Given the description of an element on the screen output the (x, y) to click on. 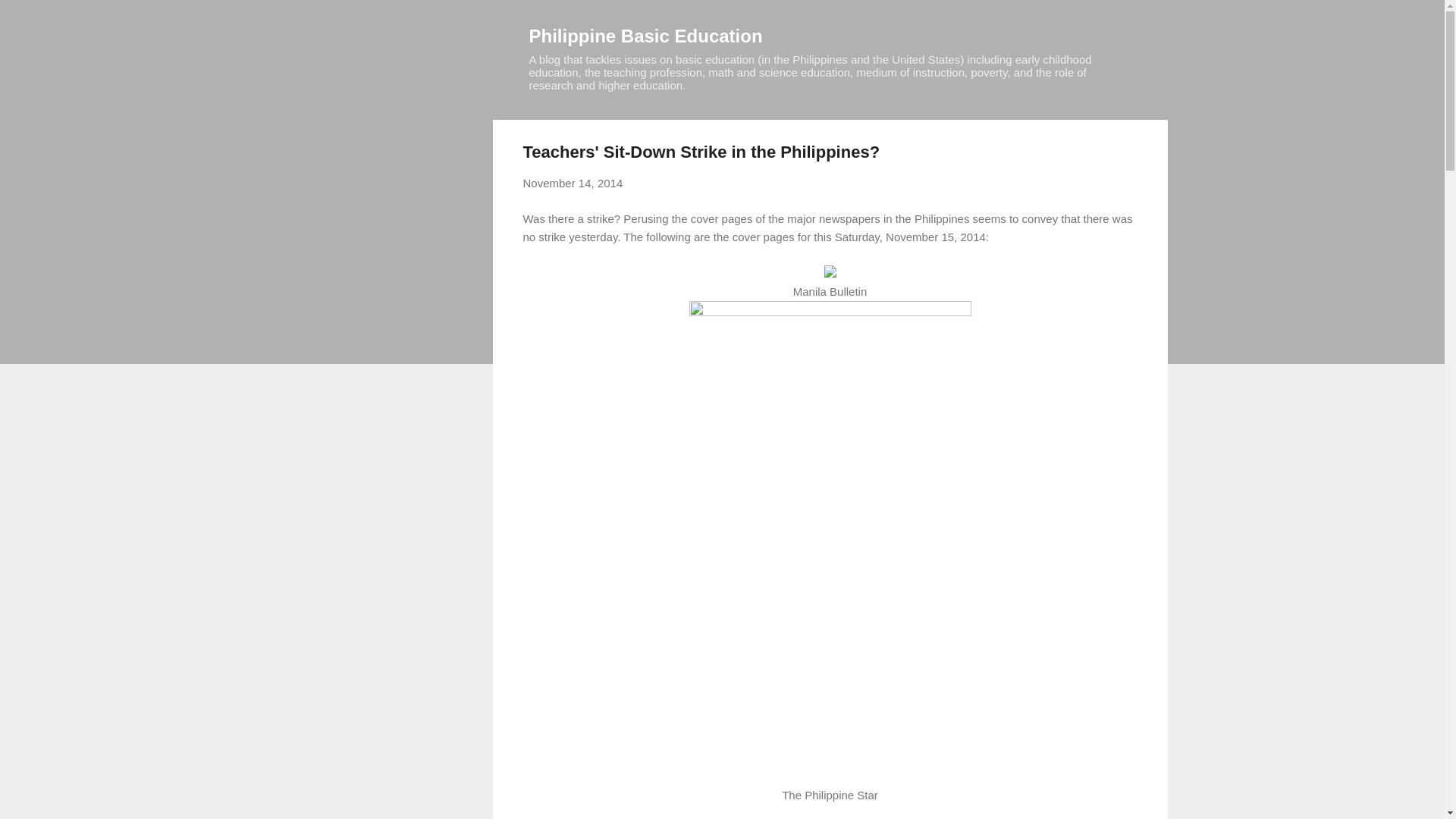
Philippine Basic Education (645, 35)
November 14, 2014 (572, 182)
permanent link (572, 182)
Search (29, 18)
